Given the description of an element on the screen output the (x, y) to click on. 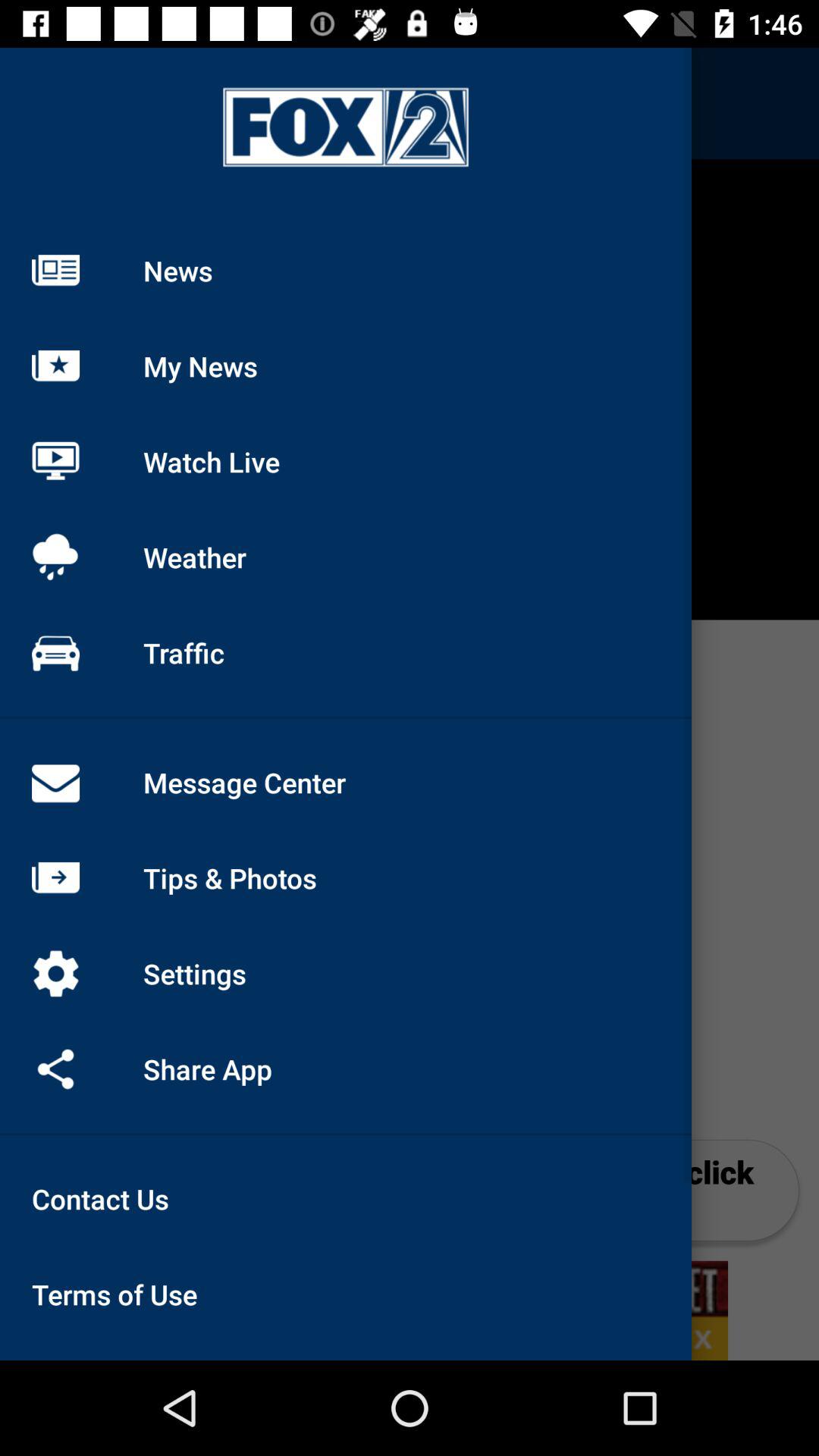
click on the text which is in the first row (345, 127)
